Given the description of an element on the screen output the (x, y) to click on. 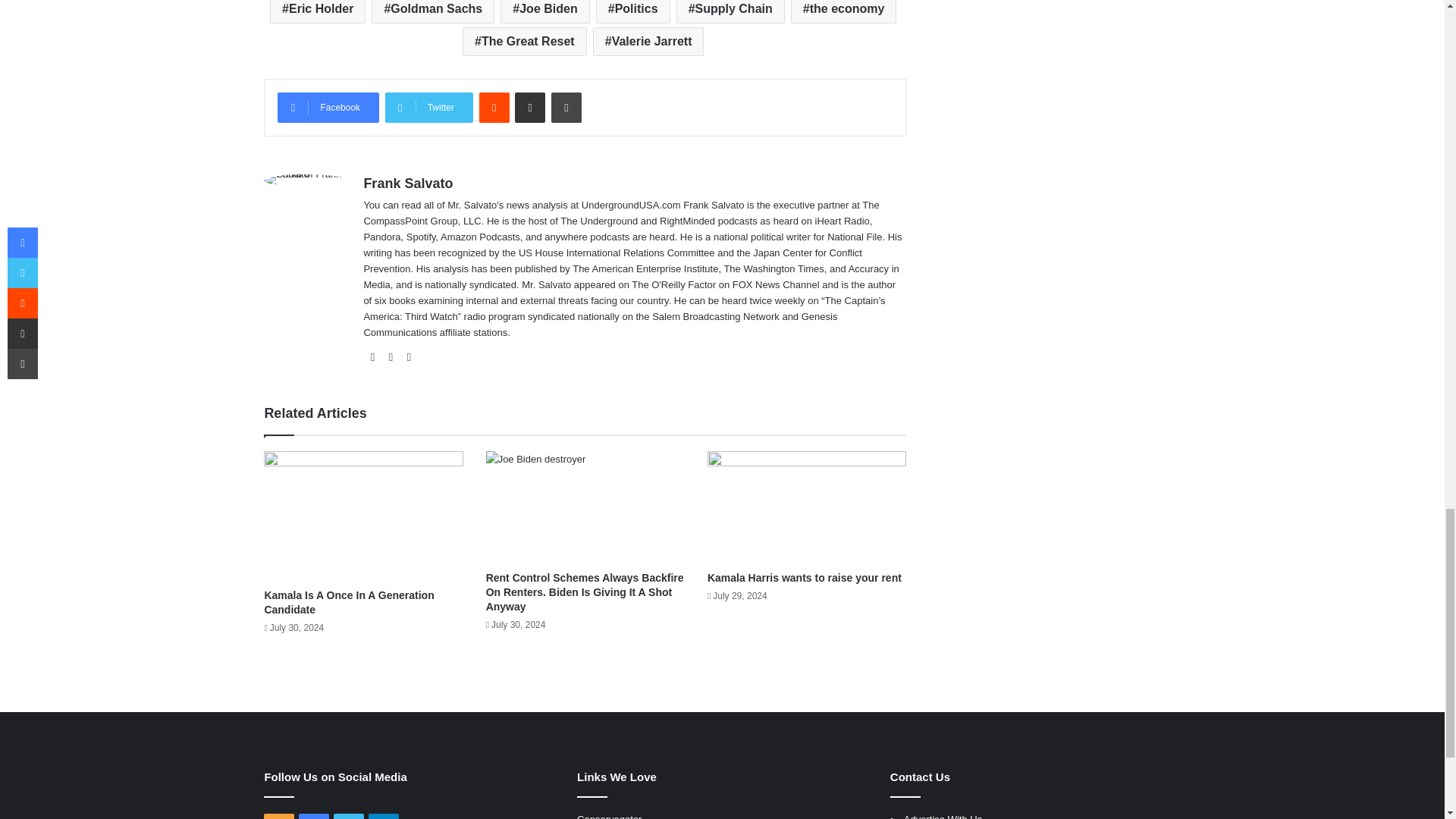
Facebook (328, 107)
Share via Email (529, 107)
Reddit (494, 107)
Twitter (429, 107)
